Given the description of an element on the screen output the (x, y) to click on. 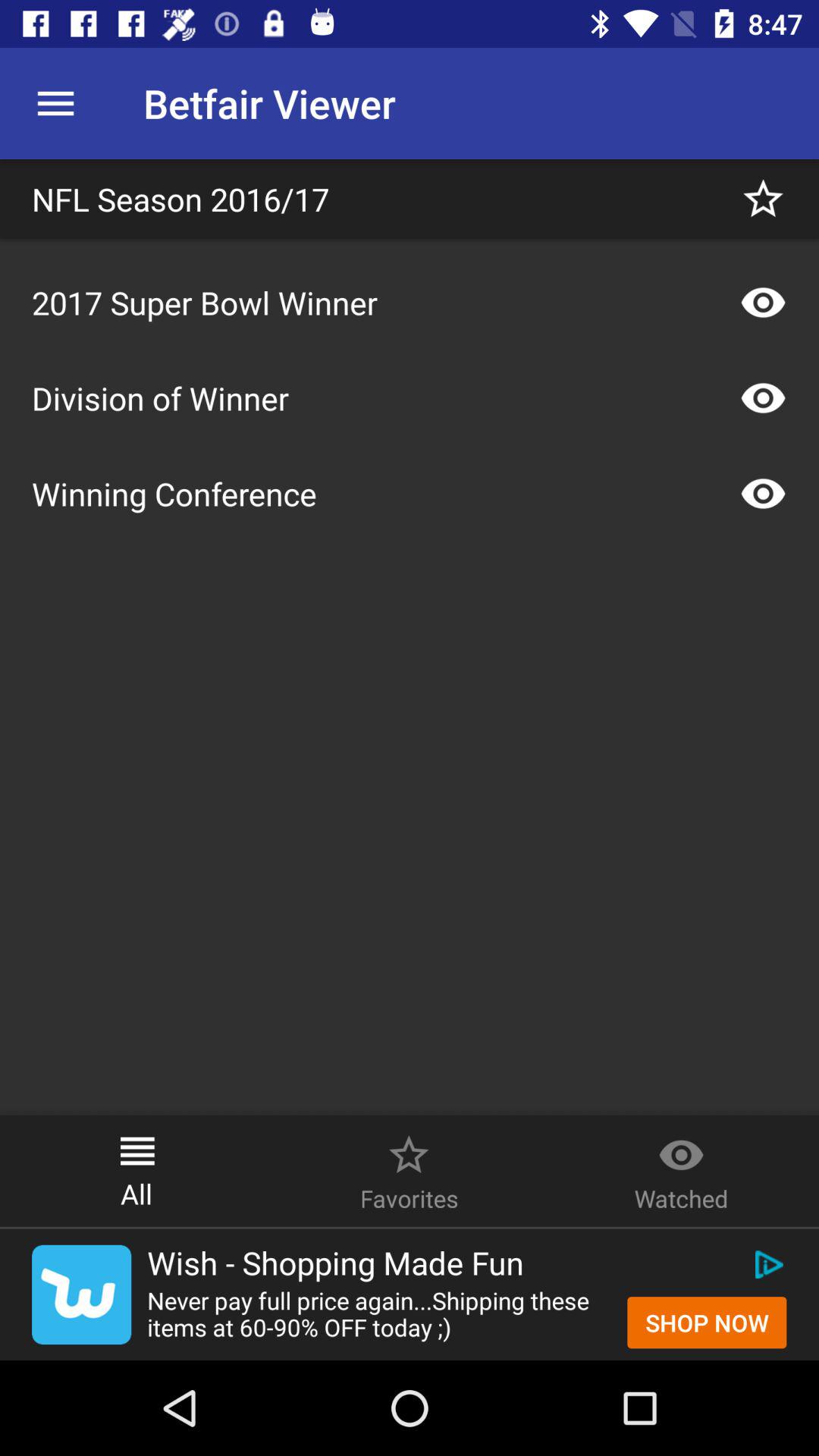
view (763, 397)
